Given the description of an element on the screen output the (x, y) to click on. 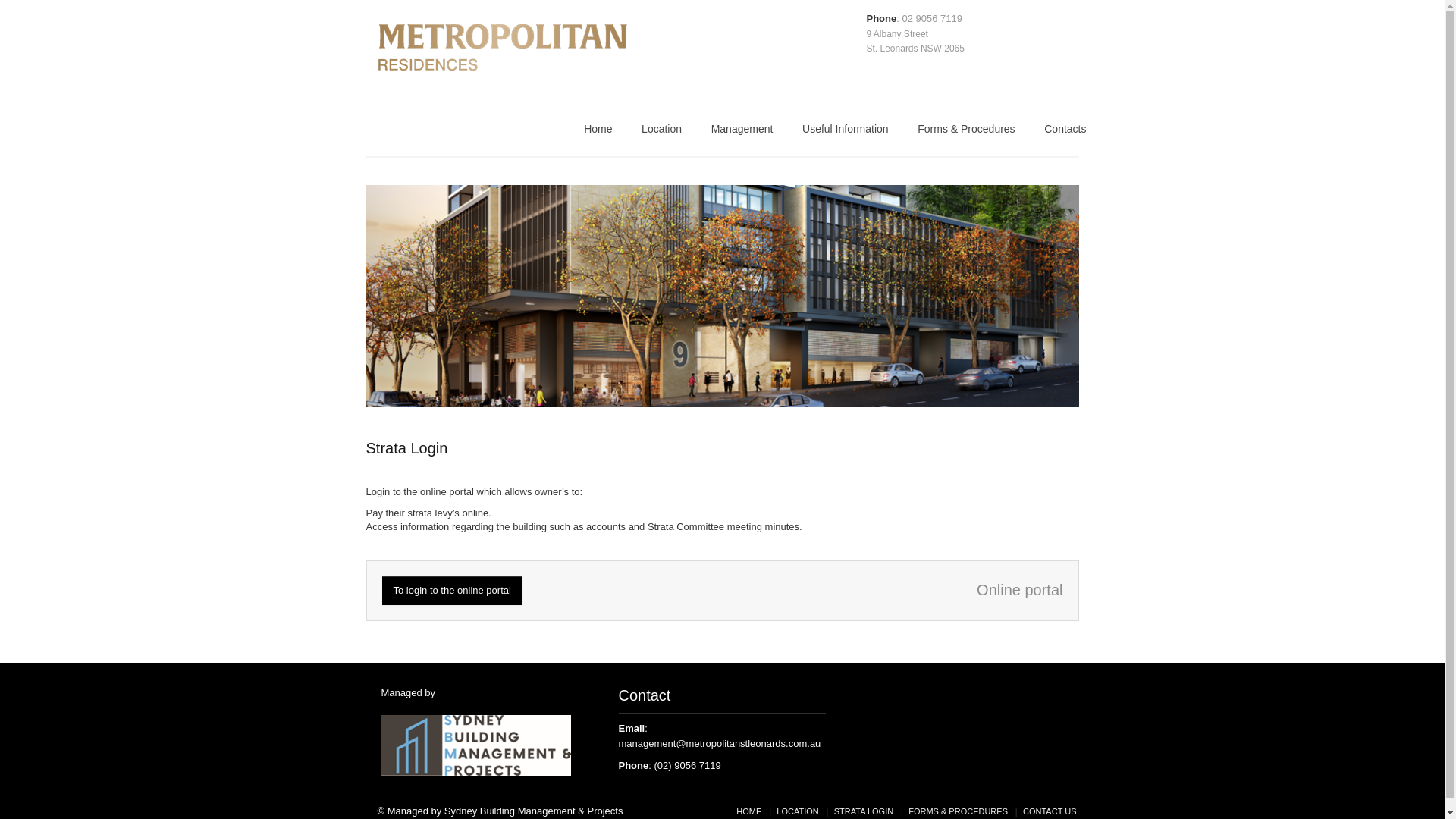
CONTACT US Element type: text (1049, 810)
management@metropolitanstleonards.com.au Element type: text (719, 743)
HOME Element type: text (748, 810)
Contacts Element type: text (1064, 132)
Location Element type: text (661, 132)
Home Element type: text (597, 132)
LOCATION Element type: text (797, 810)
Useful Information Element type: text (845, 132)
Management Element type: text (742, 132)
Forms & Procedures Element type: text (965, 132)
STRATA LOGIN Element type: text (863, 810)
FORMS & PROCEDURES Element type: text (957, 810)
